Given the description of an element on the screen output the (x, y) to click on. 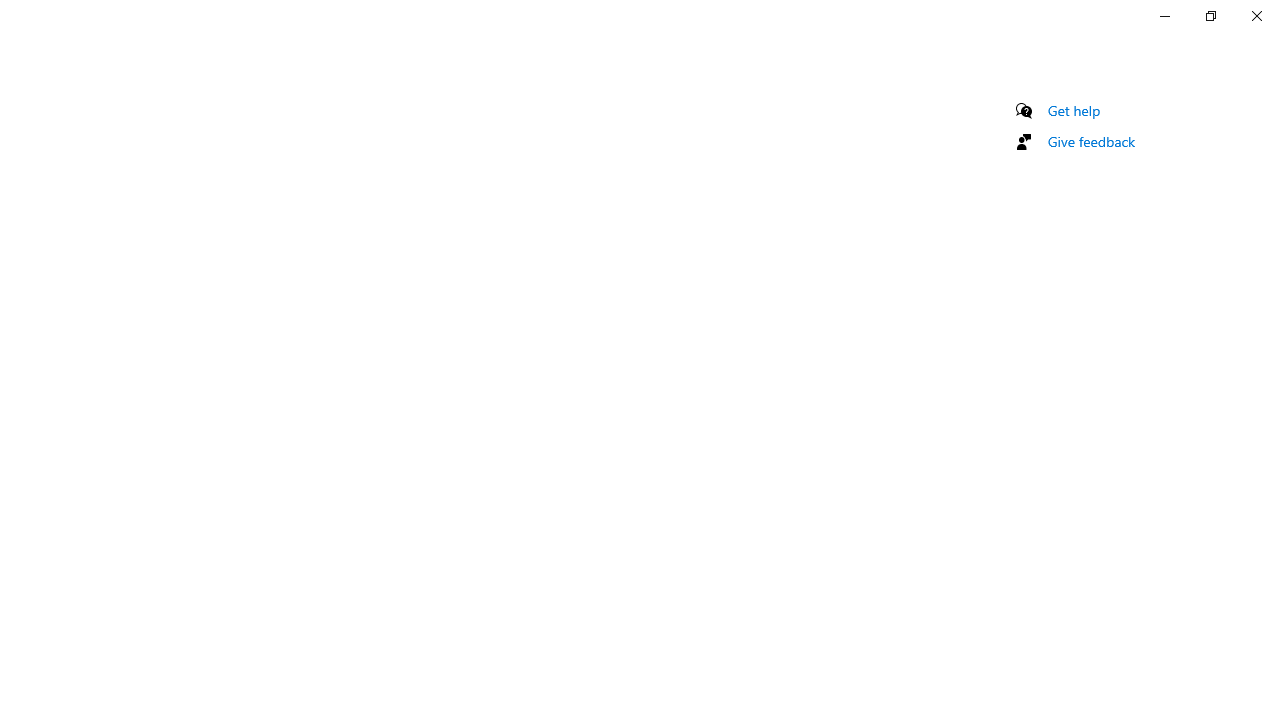
Restore Settings (1210, 15)
Get help (1074, 110)
Close Settings (1256, 15)
Minimize Settings (1164, 15)
Give feedback (1091, 141)
